Given the description of an element on the screen output the (x, y) to click on. 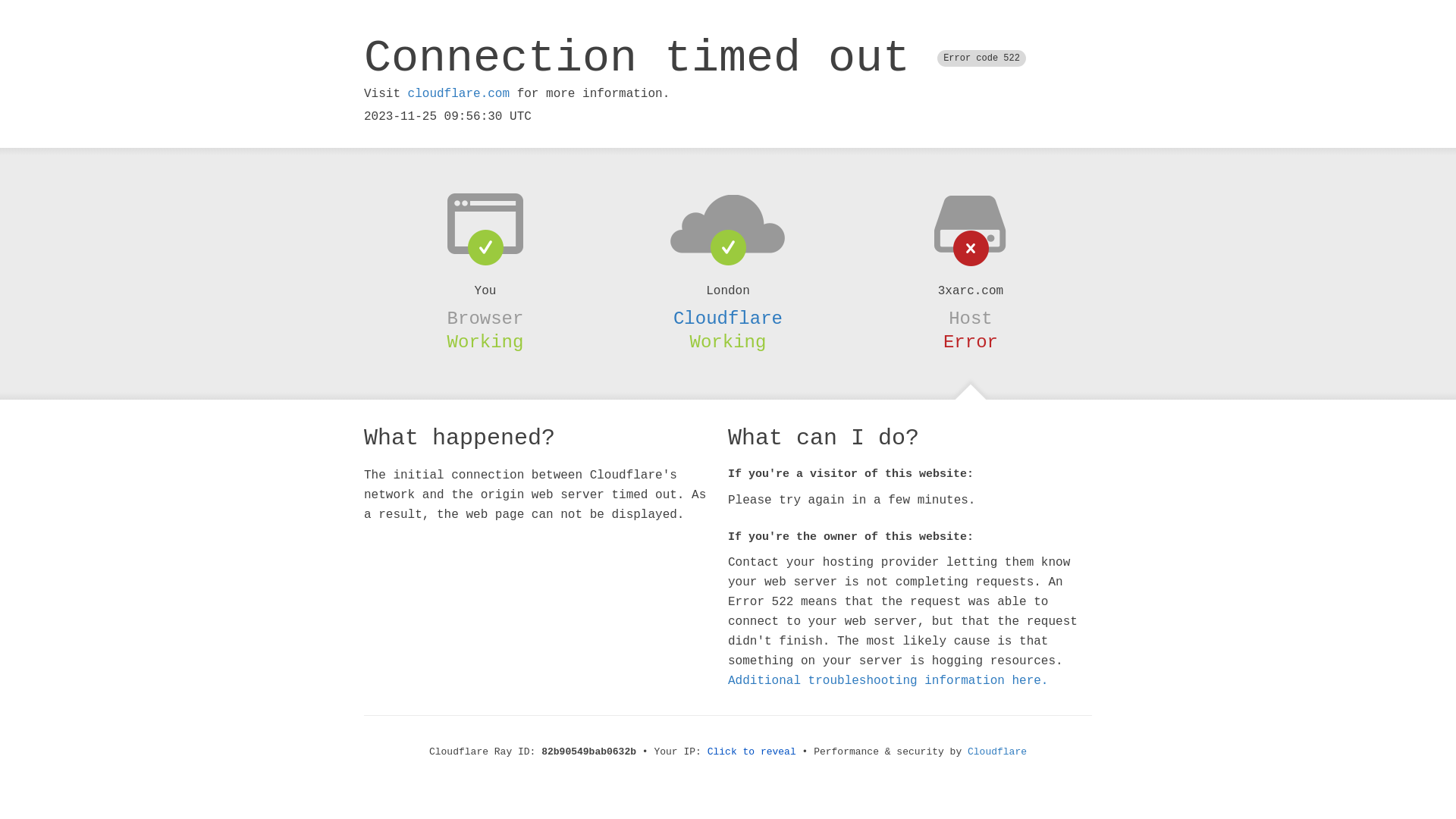
Click to reveal Element type: text (751, 751)
Additional troubleshooting information here. Element type: text (888, 680)
cloudflare.com Element type: text (458, 93)
Cloudflare Element type: text (996, 751)
Cloudflare Element type: text (727, 318)
